Given the description of an element on the screen output the (x, y) to click on. 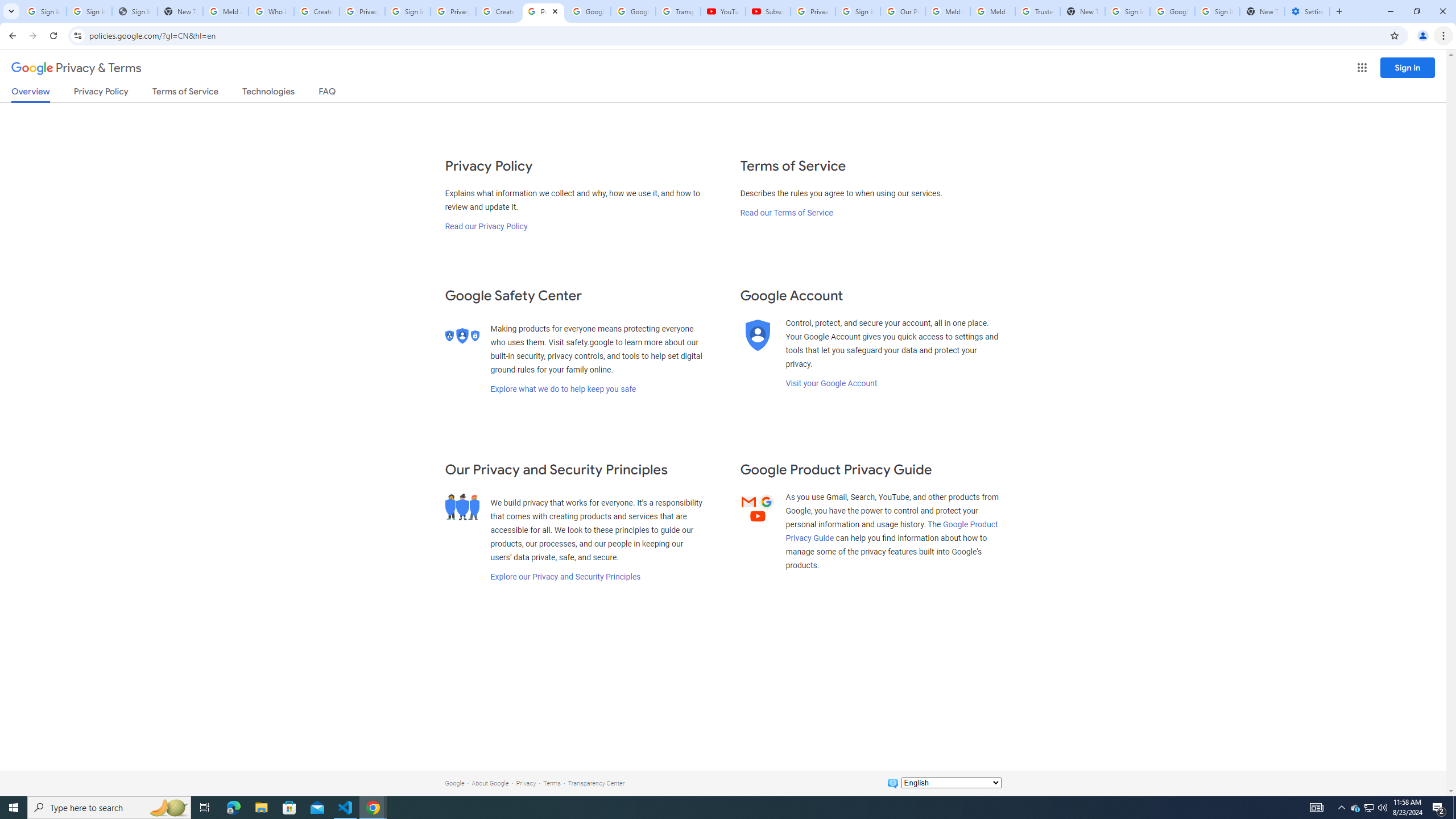
Read our Privacy Policy (485, 226)
Explore what we do to help keep you safe (563, 388)
Google Cybersecurity Innovations - Google Safety Center (1171, 11)
Sign in - Google Accounts (88, 11)
Read our Terms of Service (785, 212)
